Given the description of an element on the screen output the (x, y) to click on. 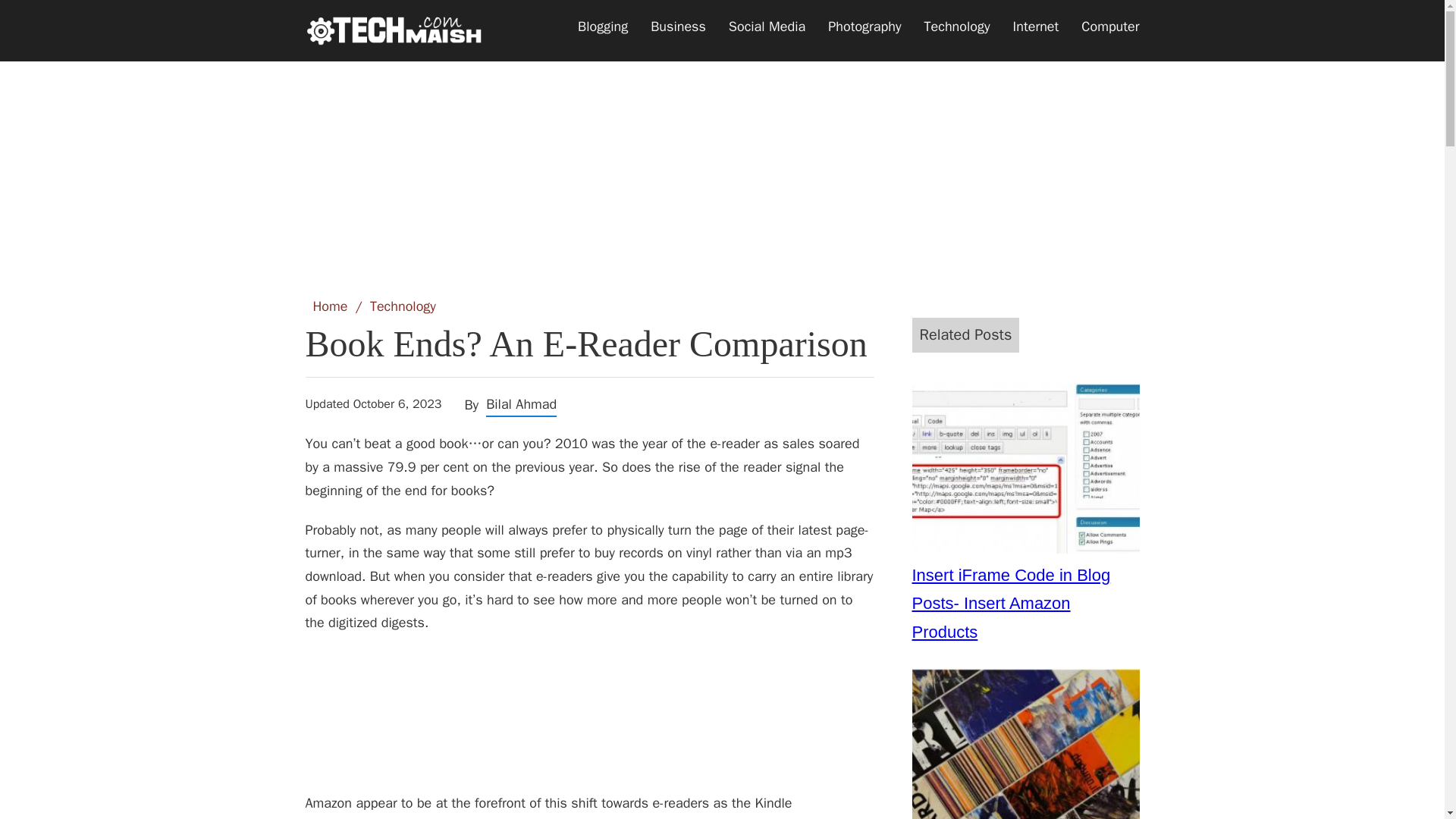
Bilal Ahmad (521, 403)
Photography (864, 26)
Internet (1036, 26)
Home (330, 306)
Business (678, 26)
Social Media (767, 26)
Advertisement (721, 159)
Technology (957, 26)
Computer (1109, 26)
Advertisement (588, 720)
Technology (402, 306)
Blogging (602, 26)
